Given the description of an element on the screen output the (x, y) to click on. 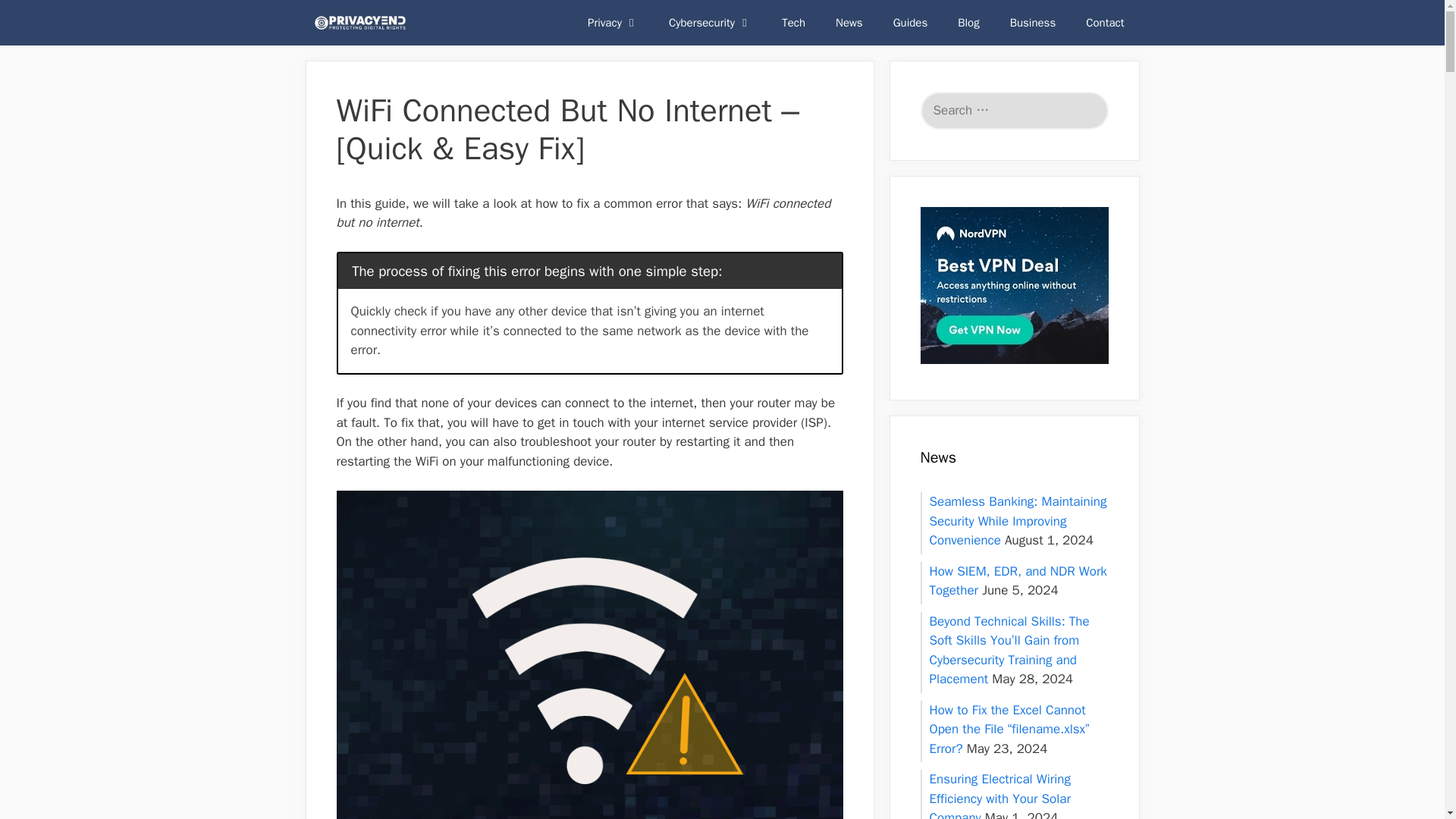
Business (1032, 22)
PrivacyEnd (359, 22)
Privacy (612, 22)
Blog (968, 22)
News (849, 22)
Cybersecurity (710, 22)
Search (33, 17)
Tech (794, 22)
Contact (1104, 22)
Guides (910, 22)
